Given the description of an element on the screen output the (x, y) to click on. 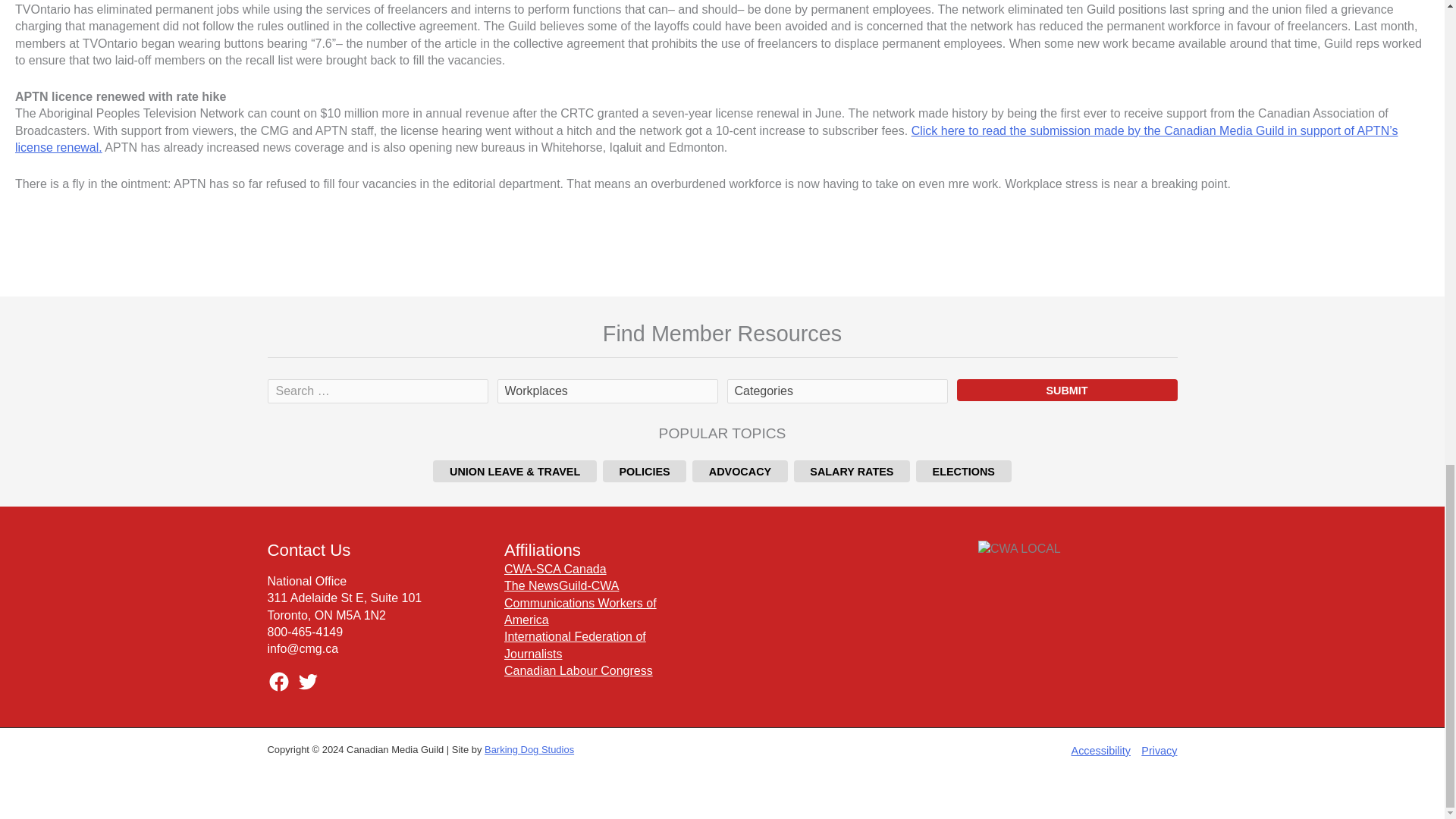
Workplaces (606, 391)
Categories (835, 391)
Submit (1066, 390)
